Given the description of an element on the screen output the (x, y) to click on. 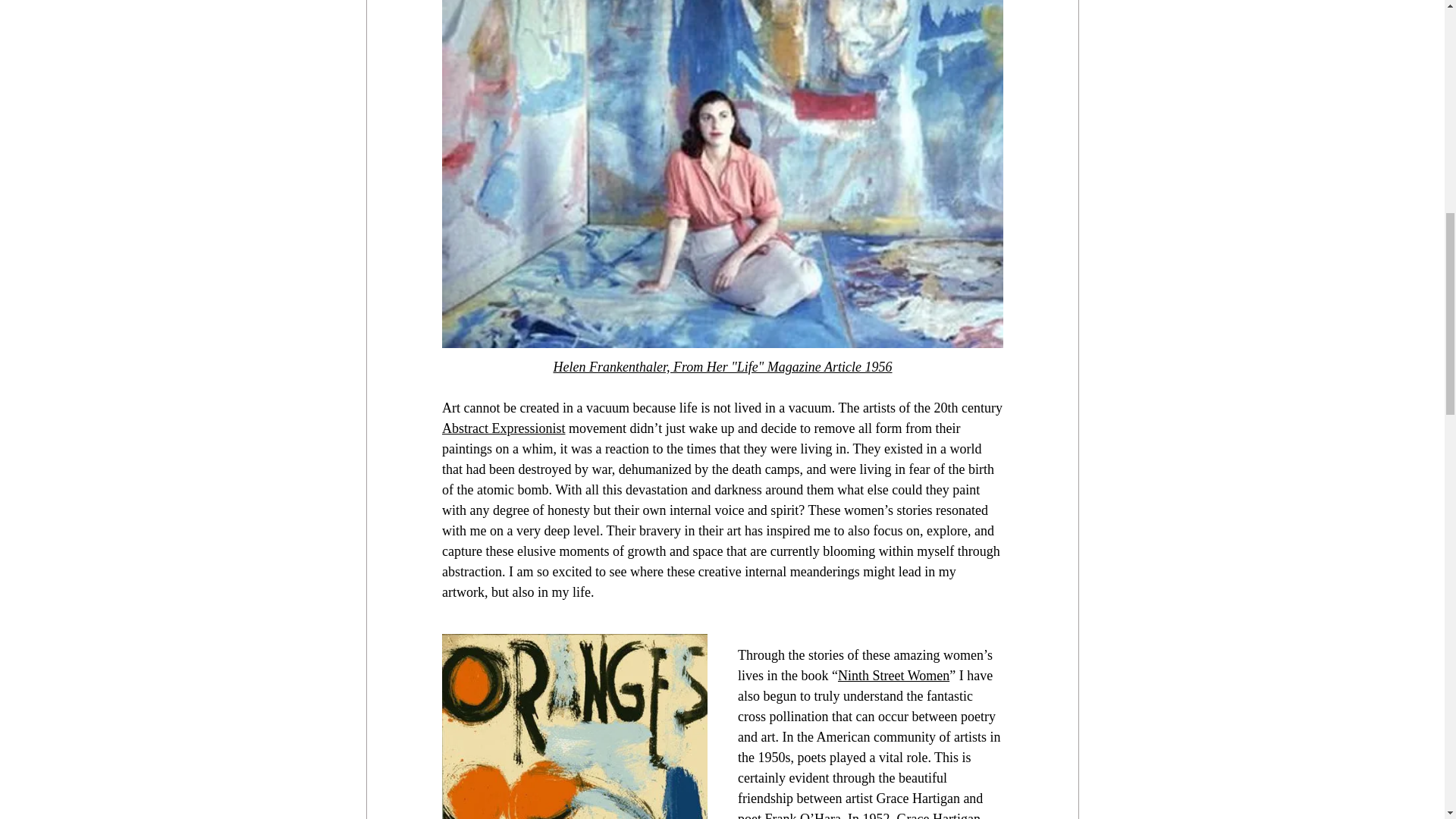
Abstract Expressionist (502, 427)
Helen Frankenthaler, From Her "Life" Magazine Article 1956 (722, 365)
Ninth Street Women (893, 674)
